Given the description of an element on the screen output the (x, y) to click on. 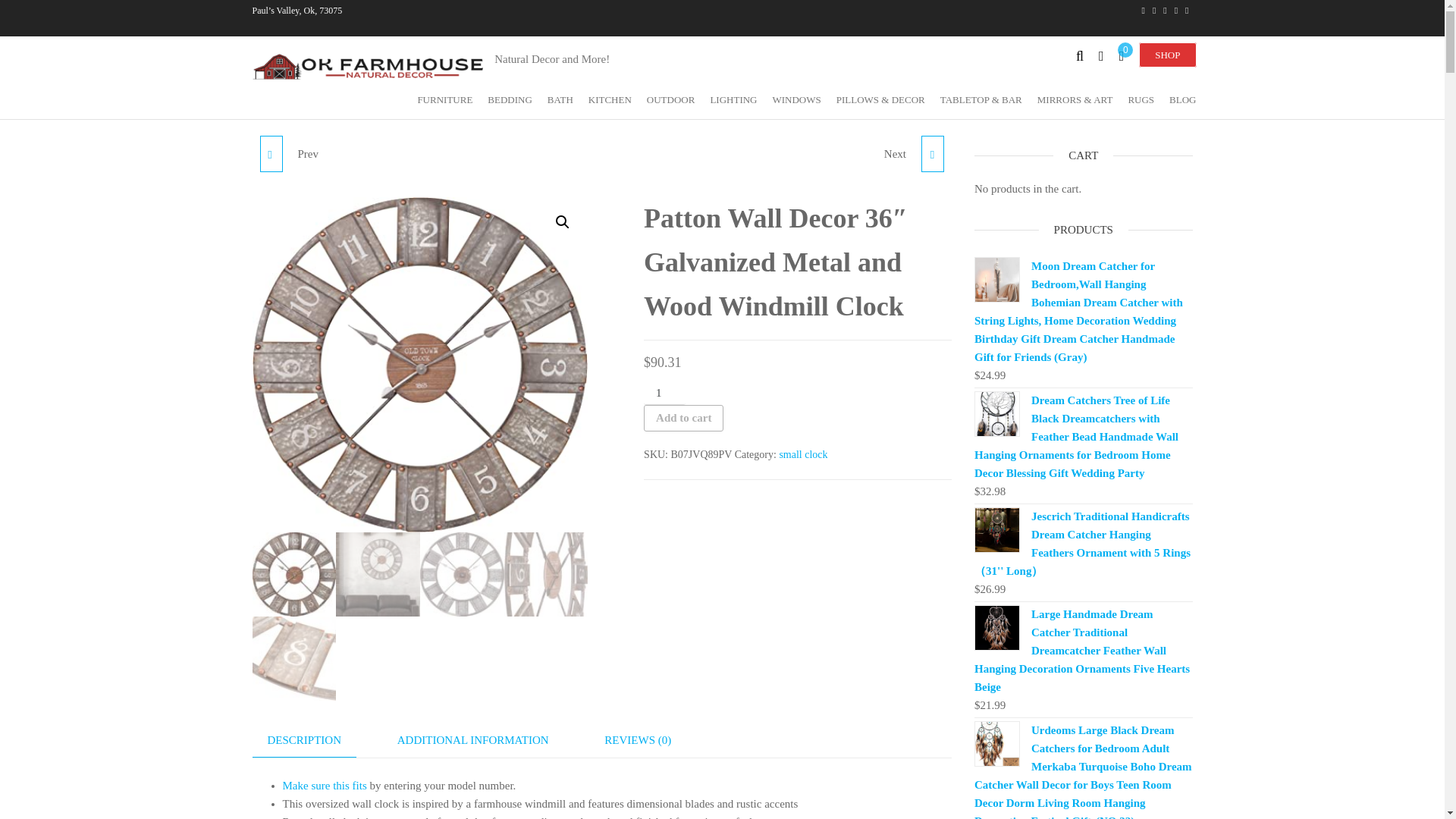
Blog (1182, 99)
BLOG (1182, 99)
Rugs (1140, 99)
Outdoor (671, 99)
KITCHEN (609, 99)
Bedding (510, 99)
DESCRIPTION (303, 740)
Kitchen (609, 99)
Lighting (732, 99)
LIGHTING (732, 99)
Make sure this fits (324, 785)
Windows (796, 99)
RUGS (1140, 99)
OUTDOOR (671, 99)
SHOP (1166, 54)
